Given the description of an element on the screen output the (x, y) to click on. 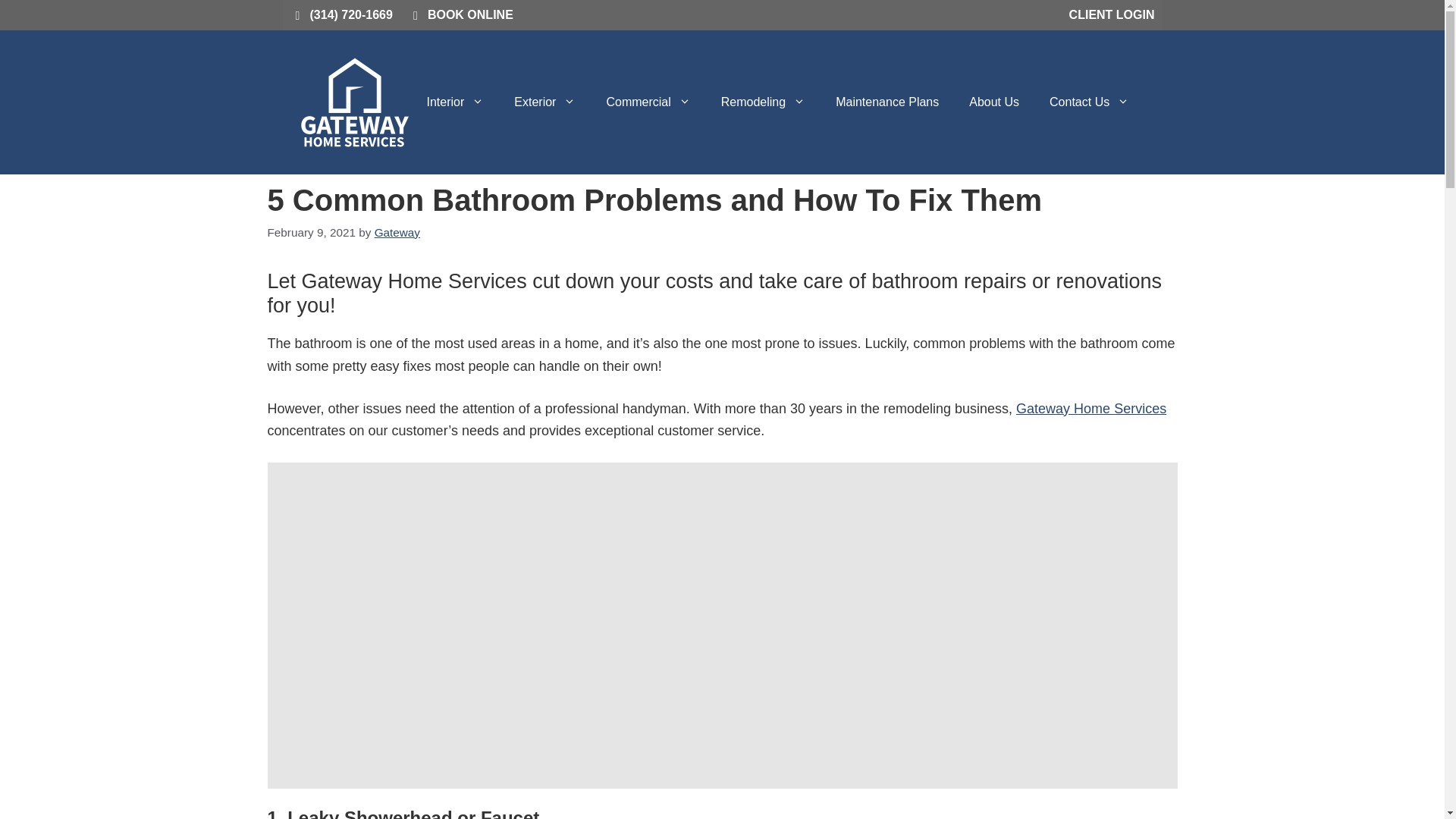
Remodeling (763, 102)
Commercial (647, 102)
View all posts by Gateway (397, 232)
Interior (454, 102)
BOOK ONLINE (460, 15)
Exterior (545, 102)
CLIENT LOGIN (1111, 15)
